Given the description of an element on the screen output the (x, y) to click on. 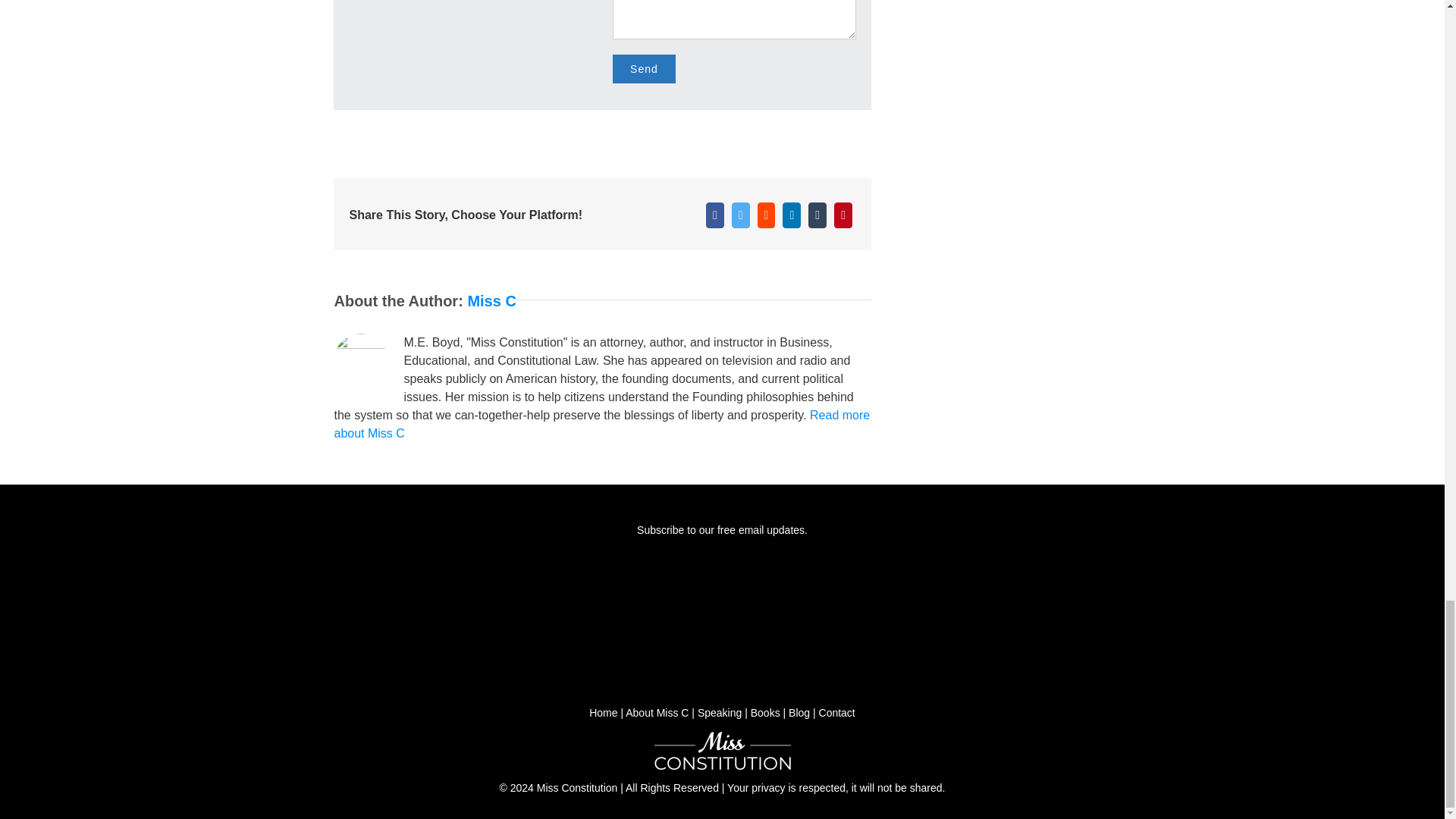
Books (765, 712)
Contact (837, 712)
Home (603, 712)
Send (643, 68)
Read more about Miss C (601, 423)
Miss C (491, 300)
Speaking (719, 712)
Blog (799, 712)
About Miss C (657, 712)
